Given the description of an element on the screen output the (x, y) to click on. 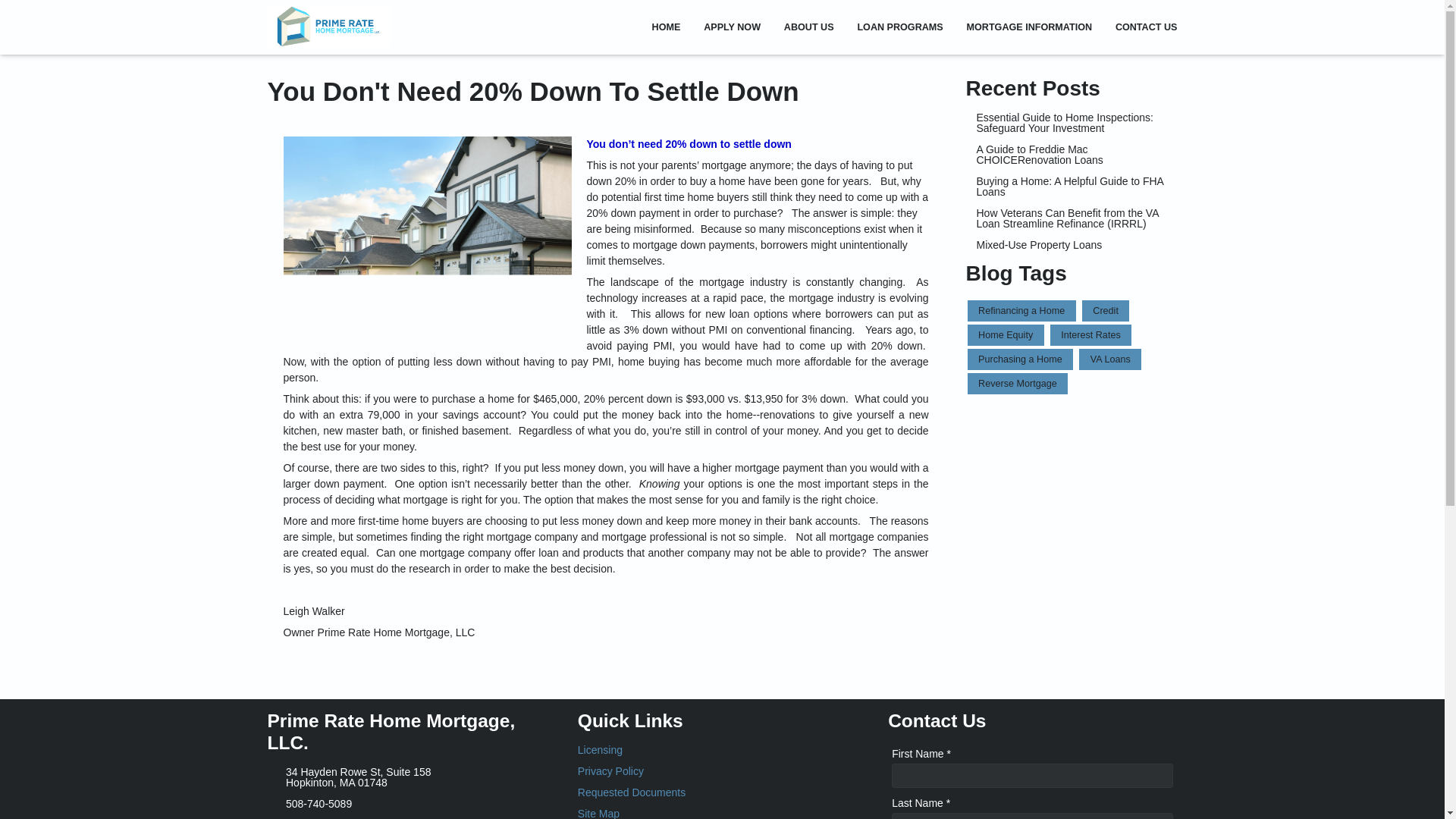
Purchasing a Home (1021, 359)
Site Map (722, 813)
Home Equity (1005, 334)
MORTGAGE INFORMATION (1029, 27)
Interest Rates (1090, 334)
A Guide to Freddie Mac CHOICERenovation Loans (1071, 154)
Licensing (722, 749)
LOAN PROGRAMS (900, 27)
Requested Documents (722, 792)
Buying a Home: A Helpful Guide to FHA Loans (1071, 186)
